Given the description of an element on the screen output the (x, y) to click on. 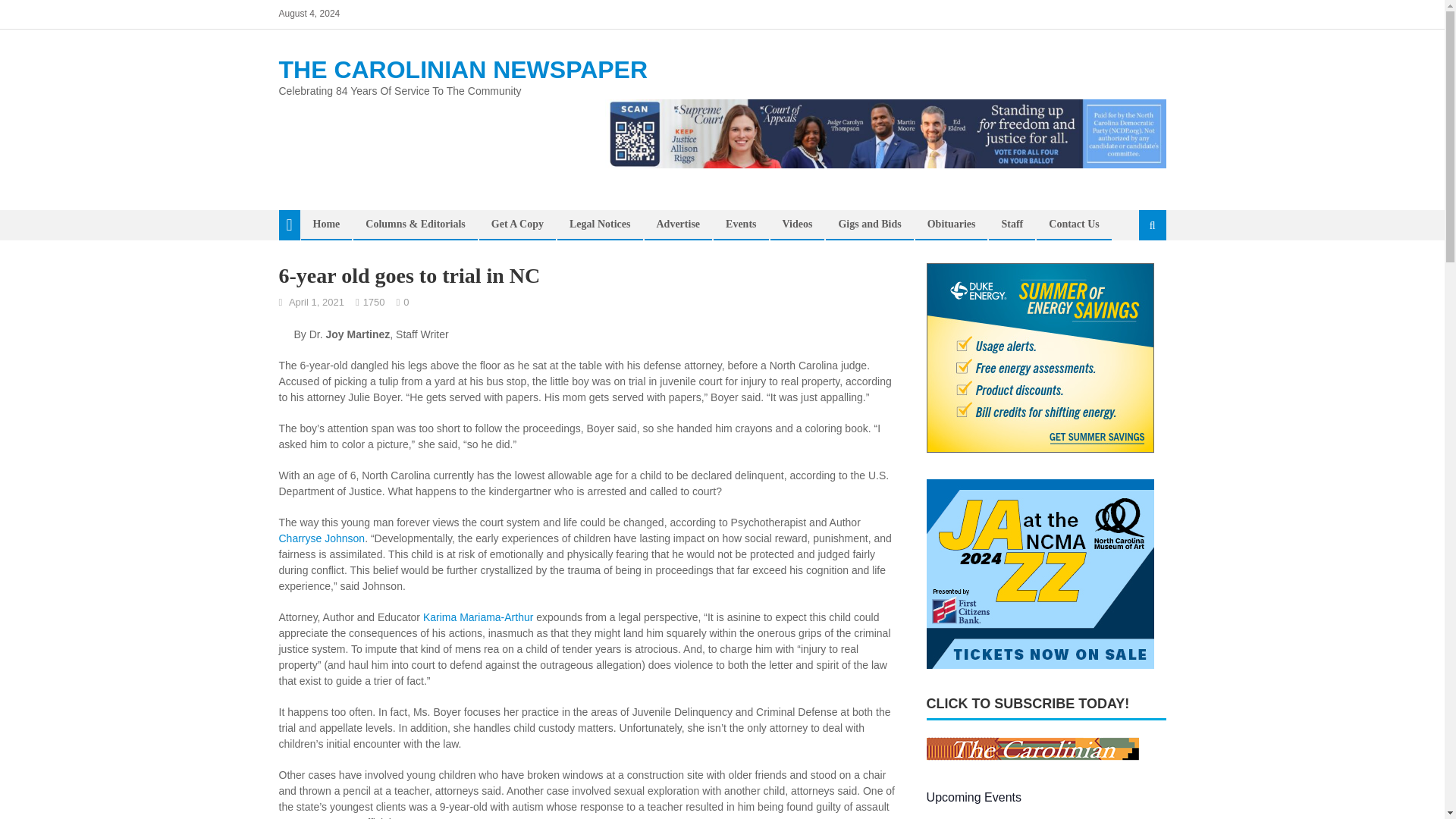
Get A Copy (517, 224)
Charryse Johnson (322, 538)
Videos (797, 224)
Gigs and Bids (869, 224)
Contact Us (1073, 224)
Home (326, 224)
Search (1133, 275)
April 1, 2021 (315, 301)
Events (740, 224)
Legal Notices (599, 224)
Advertise (678, 224)
Karima Mariama-Arthur (477, 616)
THE CAROLINIAN NEWSPAPER (463, 69)
Obituaries (951, 224)
Staff (1011, 224)
